Given the description of an element on the screen output the (x, y) to click on. 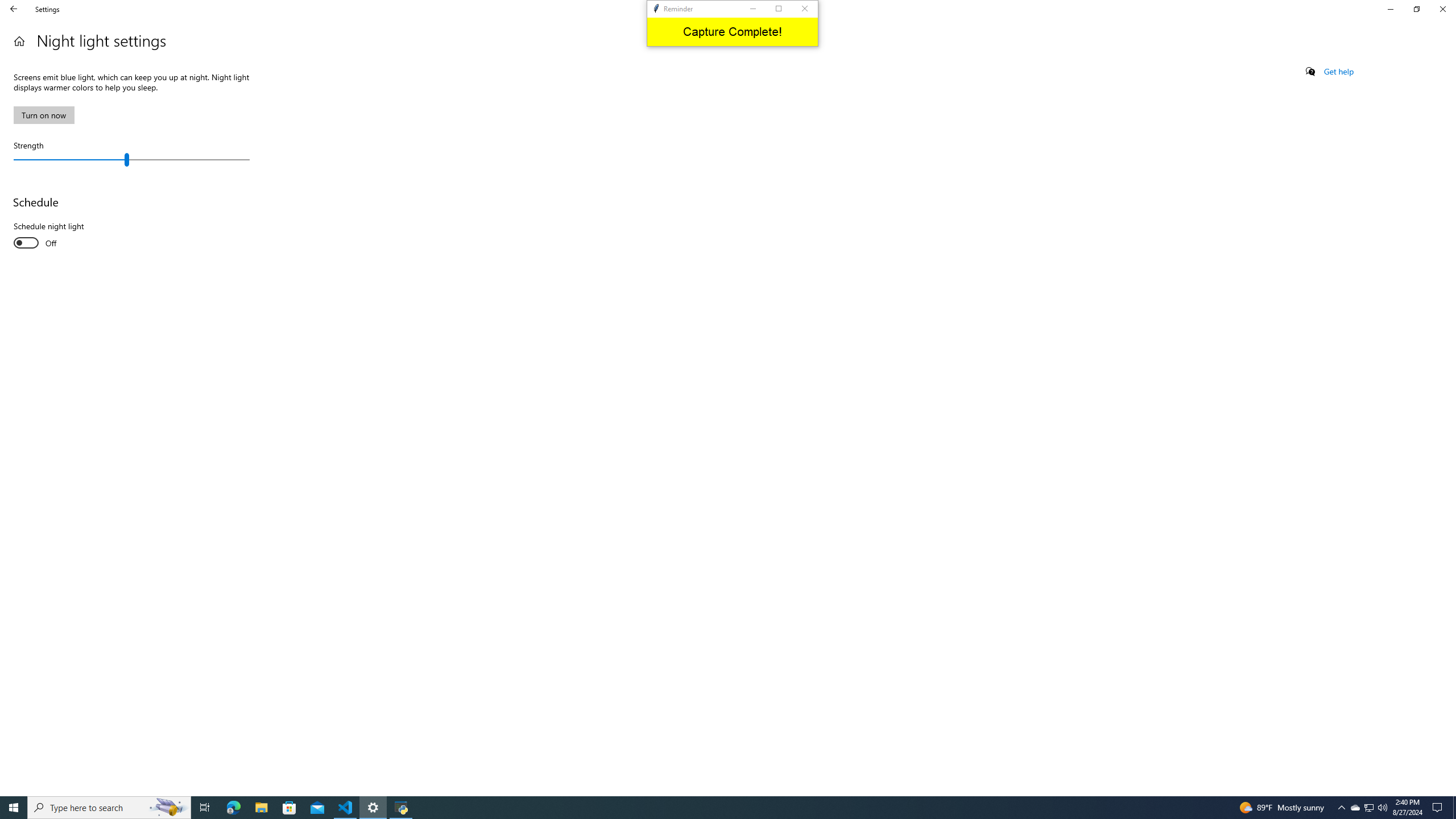
Q2790: 100% (1382, 807)
Search highlights icon opens search home window (167, 807)
Microsoft Edge (233, 807)
Microsoft Store (289, 807)
Action Center, No new notifications (1439, 807)
Show desktop (1454, 807)
Close Settings (1442, 9)
Home (19, 40)
Restore Settings (1416, 9)
Notification Chevron (1341, 807)
Type here to search (108, 807)
Turn on now (43, 114)
Schedule night light (55, 236)
